Given the description of an element on the screen output the (x, y) to click on. 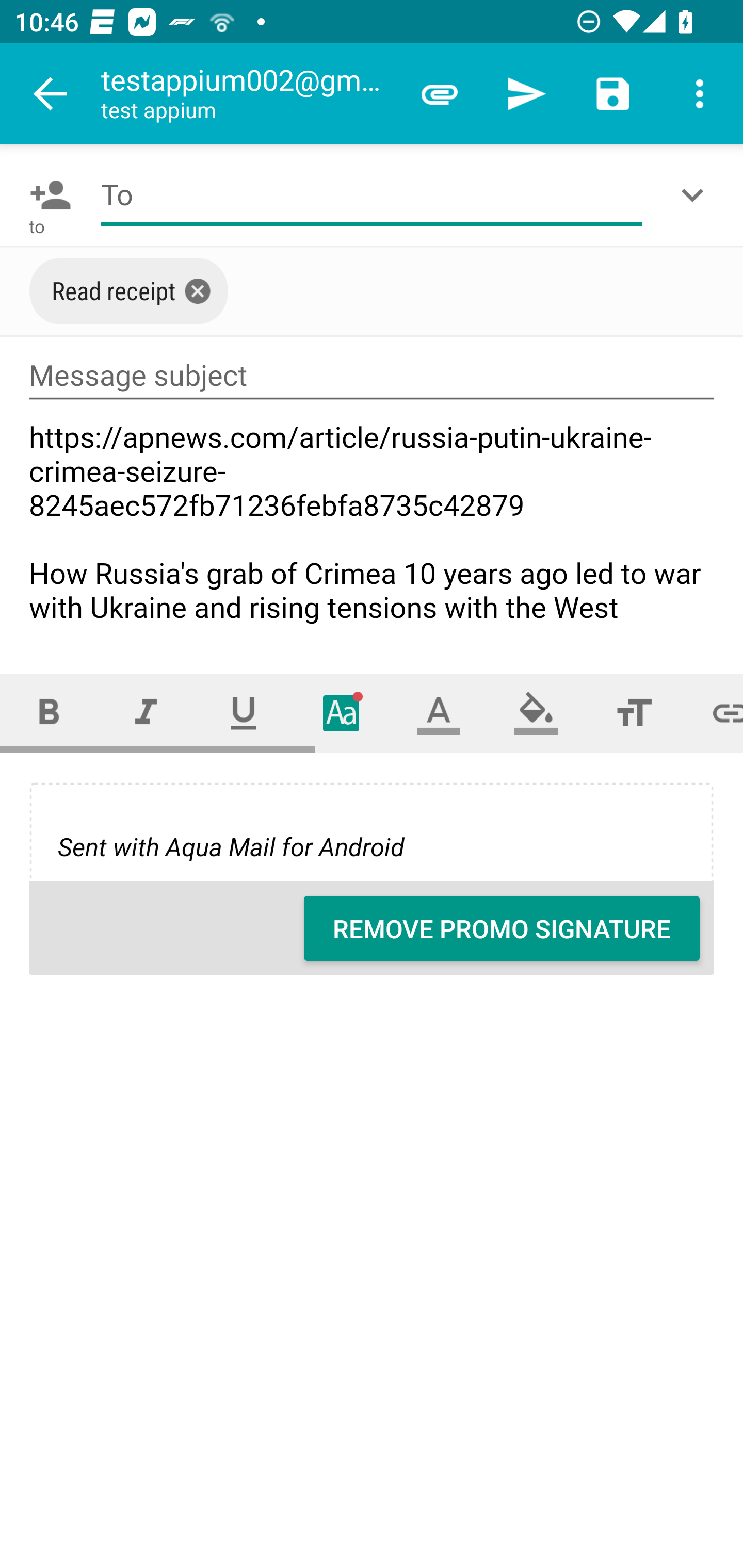
Navigate up (50, 93)
testappium002@gmail.com test appium (248, 93)
Attach (439, 93)
Send (525, 93)
Save (612, 93)
More options (699, 93)
Pick contact: To (46, 195)
Show/Add CC/BCC (696, 195)
To (371, 195)
Read receipt # (128, 291)
Message subject (371, 375)
Bold (48, 713)
Italic (145, 713)
Underline (243, 713)
Typeface (font) (341, 713)
Text color (438, 713)
Fill color (536, 713)
Font size (633, 713)
Set link (712, 713)
REMOVE PROMO SIGNATURE (501, 928)
